Given the description of an element on the screen output the (x, y) to click on. 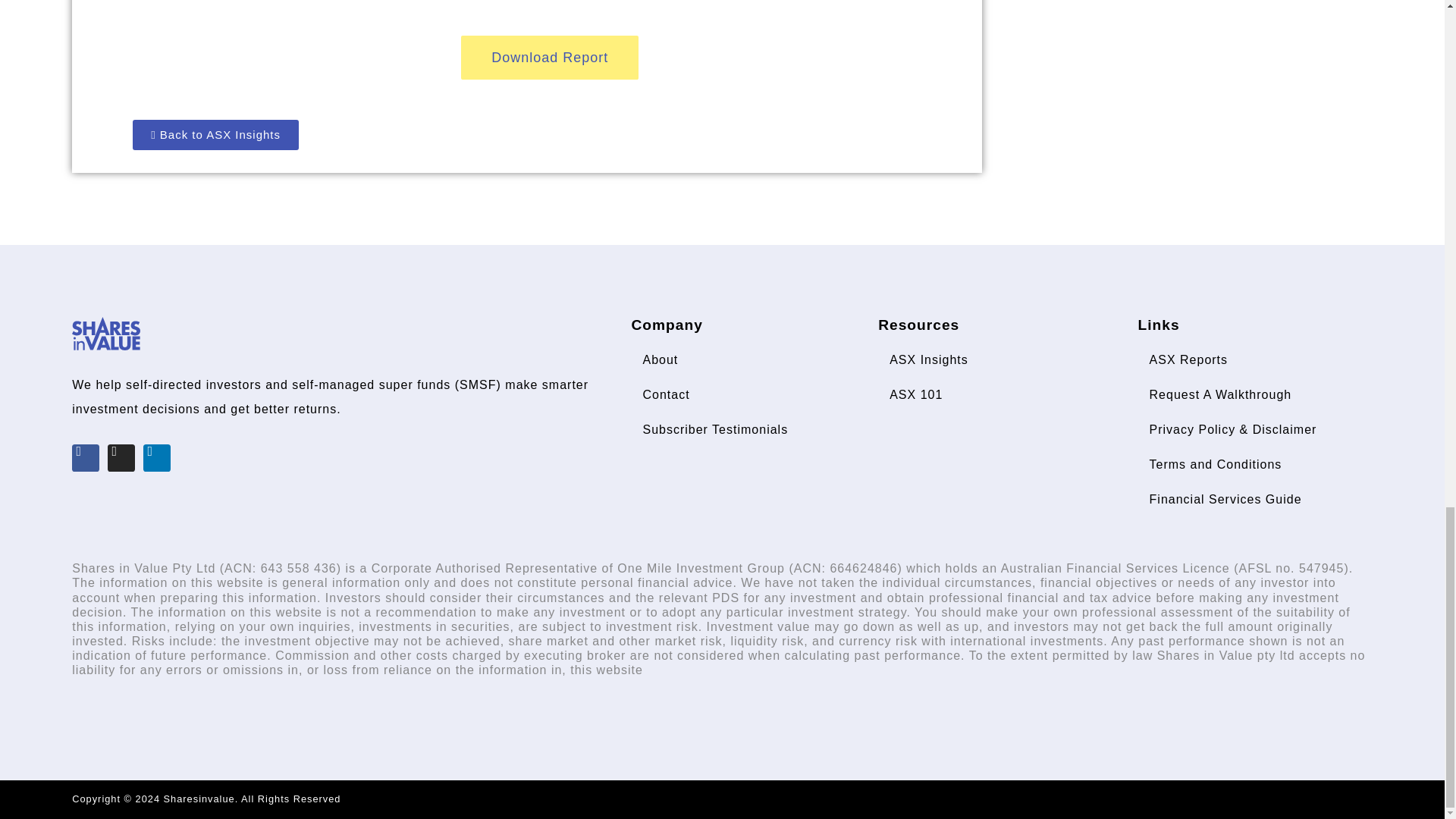
Back to ASX Insights (215, 134)
Download Report (549, 57)
